Given the description of an element on the screen output the (x, y) to click on. 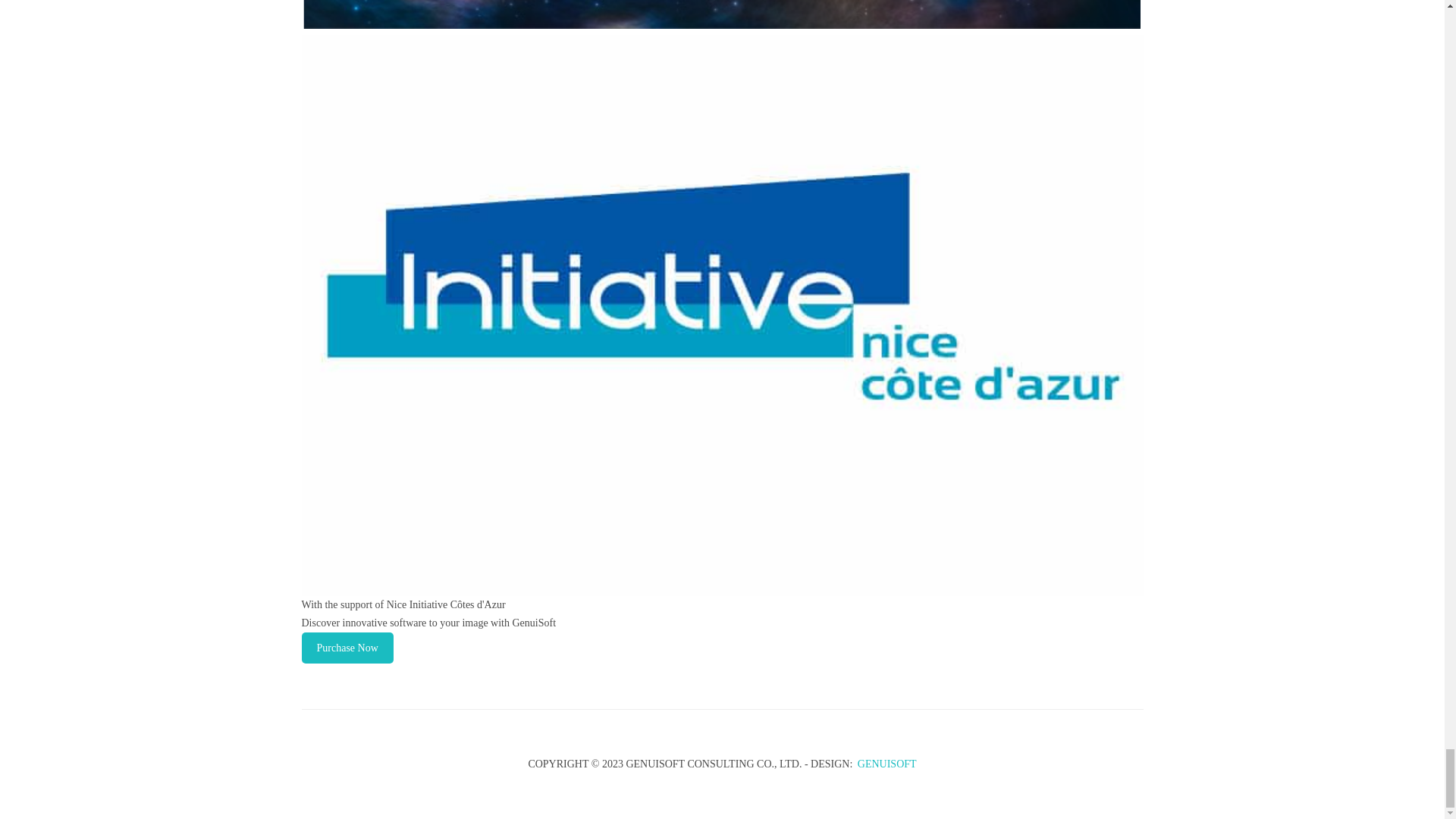
GENUISOFT (887, 763)
Purchase Now (347, 647)
